Given the description of an element on the screen output the (x, y) to click on. 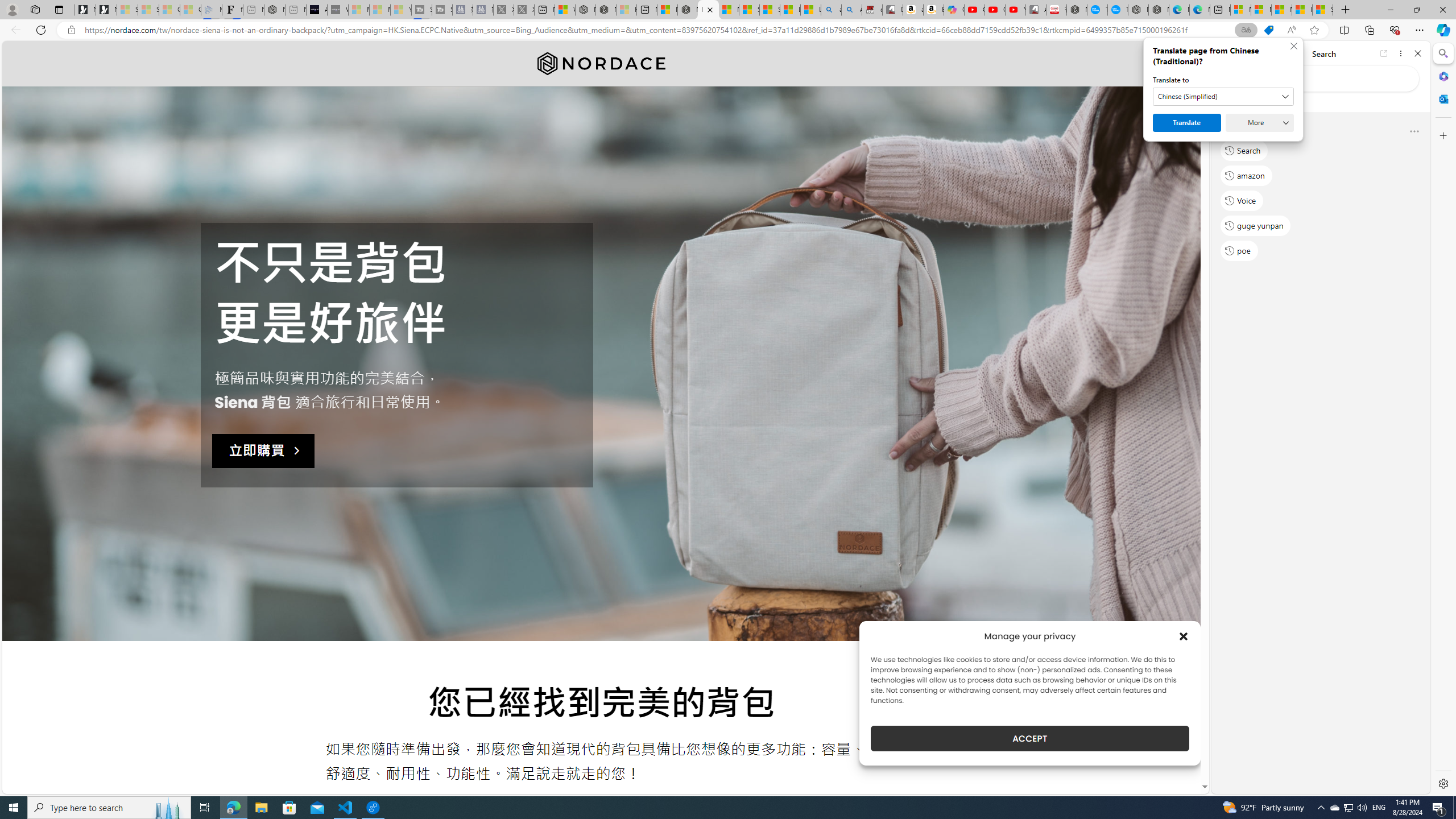
Nordace - #1 Japanese Best-Seller - Siena Smart Backpack (274, 9)
amazon.in/dp/B0CX59H5W7/?tag=gsmcom05-21 (913, 9)
Forward (1242, 53)
Gloom - YouTube (994, 9)
Translate (1187, 122)
Show translate options (1245, 29)
All Cubot phones (1035, 9)
